Given the description of an element on the screen output the (x, y) to click on. 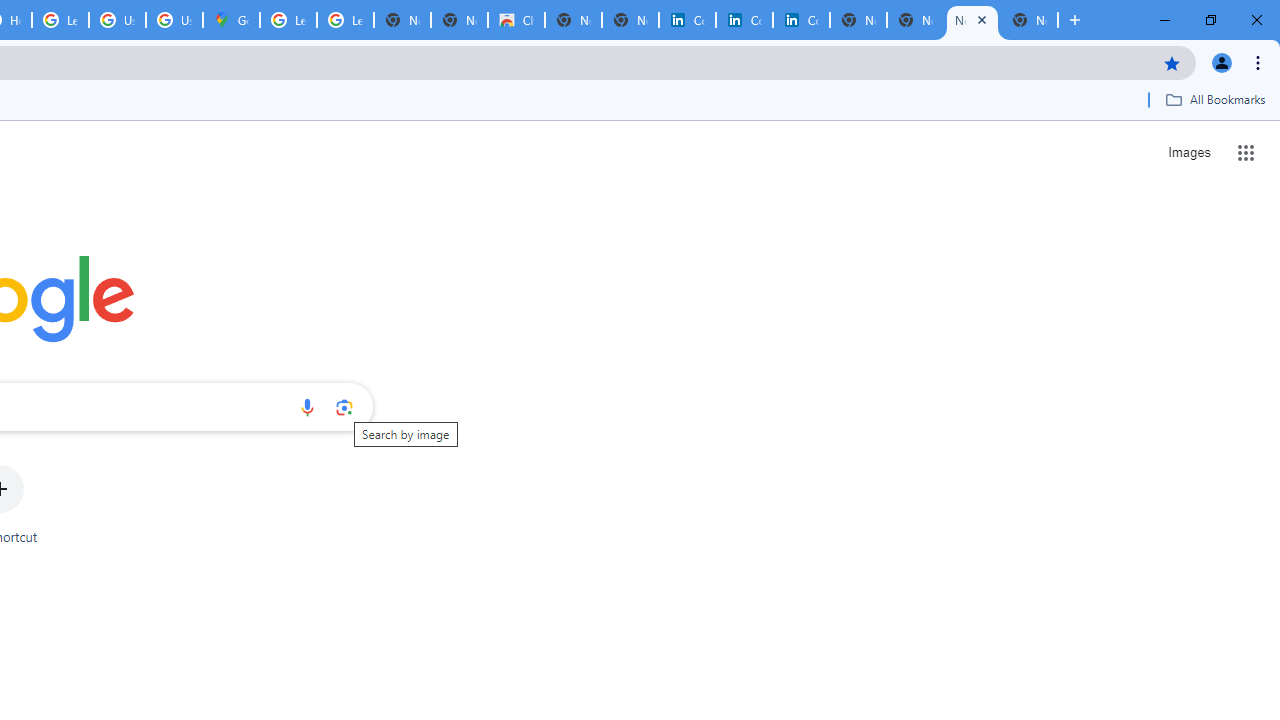
Chrome Web Store (516, 20)
